Given the description of an element on the screen output the (x, y) to click on. 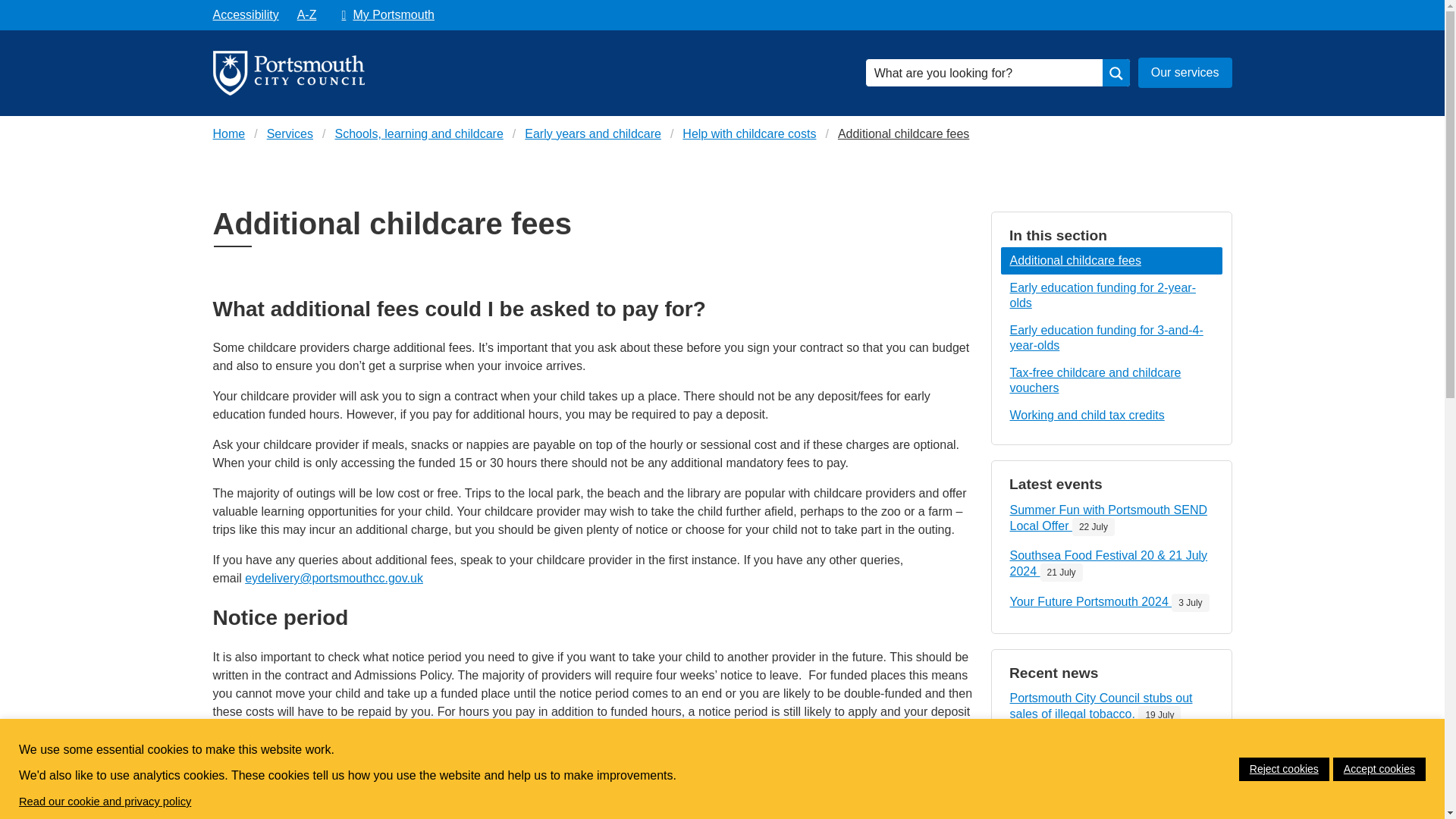
Schools, learning and childcare (418, 134)
Accessibility (1112, 752)
Help with childcare costs (244, 15)
Tax-free childcare and childcare vouchers (581, 810)
Services (1112, 380)
Additional childcare fees (289, 134)
Additional childcare fees (1112, 260)
My Portsmouth (1112, 603)
Help with childcare costs (903, 134)
Accessibility (384, 15)
help with childcare costs page (748, 134)
Our services (244, 15)
